Given the description of an element on the screen output the (x, y) to click on. 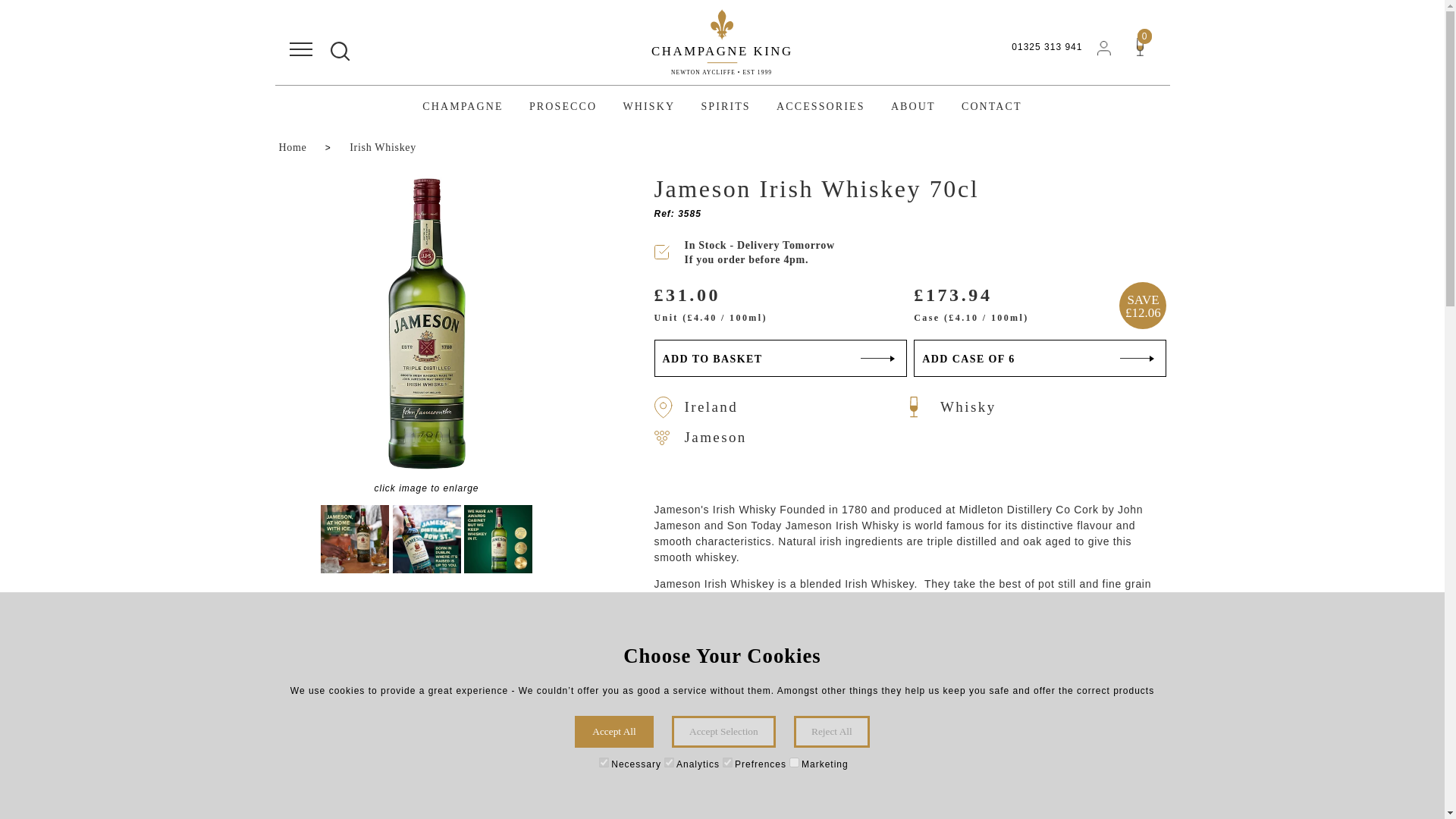
ADD TO BASKET (779, 357)
User account Log In (1104, 46)
Account Login (1103, 48)
Marketing (794, 762)
Reject All (831, 731)
Irish Whiskey (382, 147)
Irish Whiskey (382, 147)
CHAMPAGNE (462, 106)
Accessories (820, 106)
Home (298, 147)
